Given the description of an element on the screen output the (x, y) to click on. 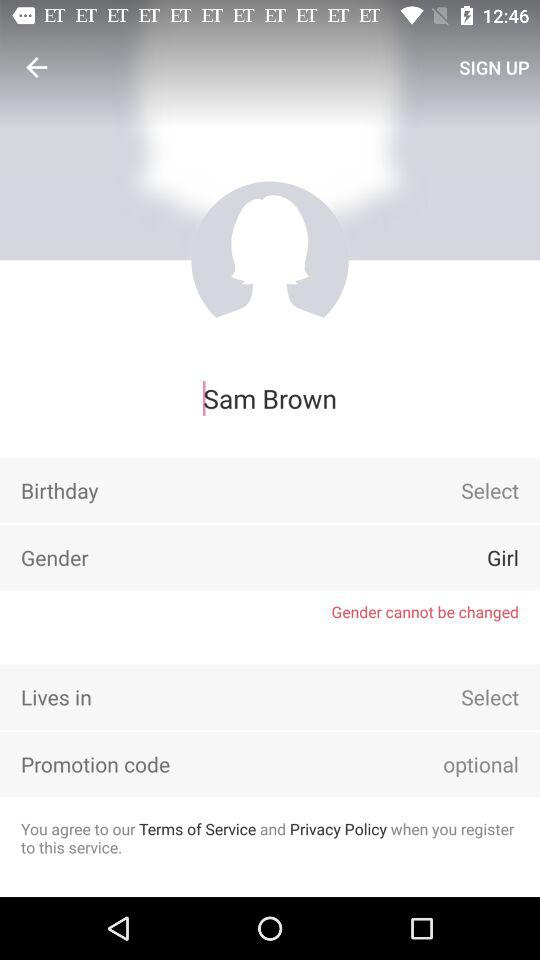
turn off the you agree to item (270, 838)
